Given the description of an element on the screen output the (x, y) to click on. 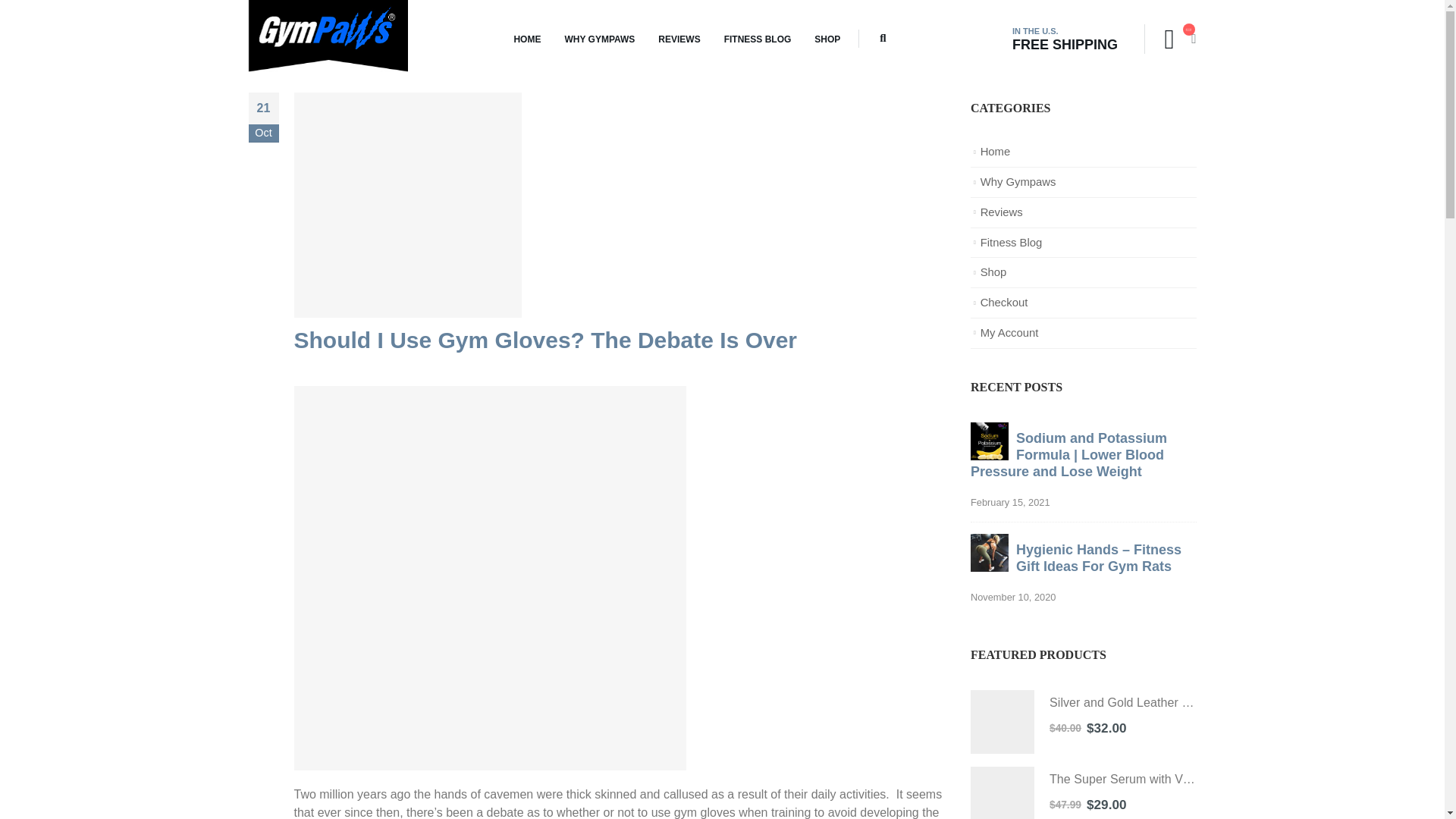
Shop (993, 272)
Why Gympaws (1018, 182)
REVIEWS (678, 38)
Fitness Blog (1010, 242)
Checkout (1003, 302)
Home (994, 151)
The Super Serum with Vitamin C (1002, 792)
My Account (1009, 332)
The Super Serum with Vitamin C (1122, 780)
SHOP (827, 38)
